Given the description of an element on the screen output the (x, y) to click on. 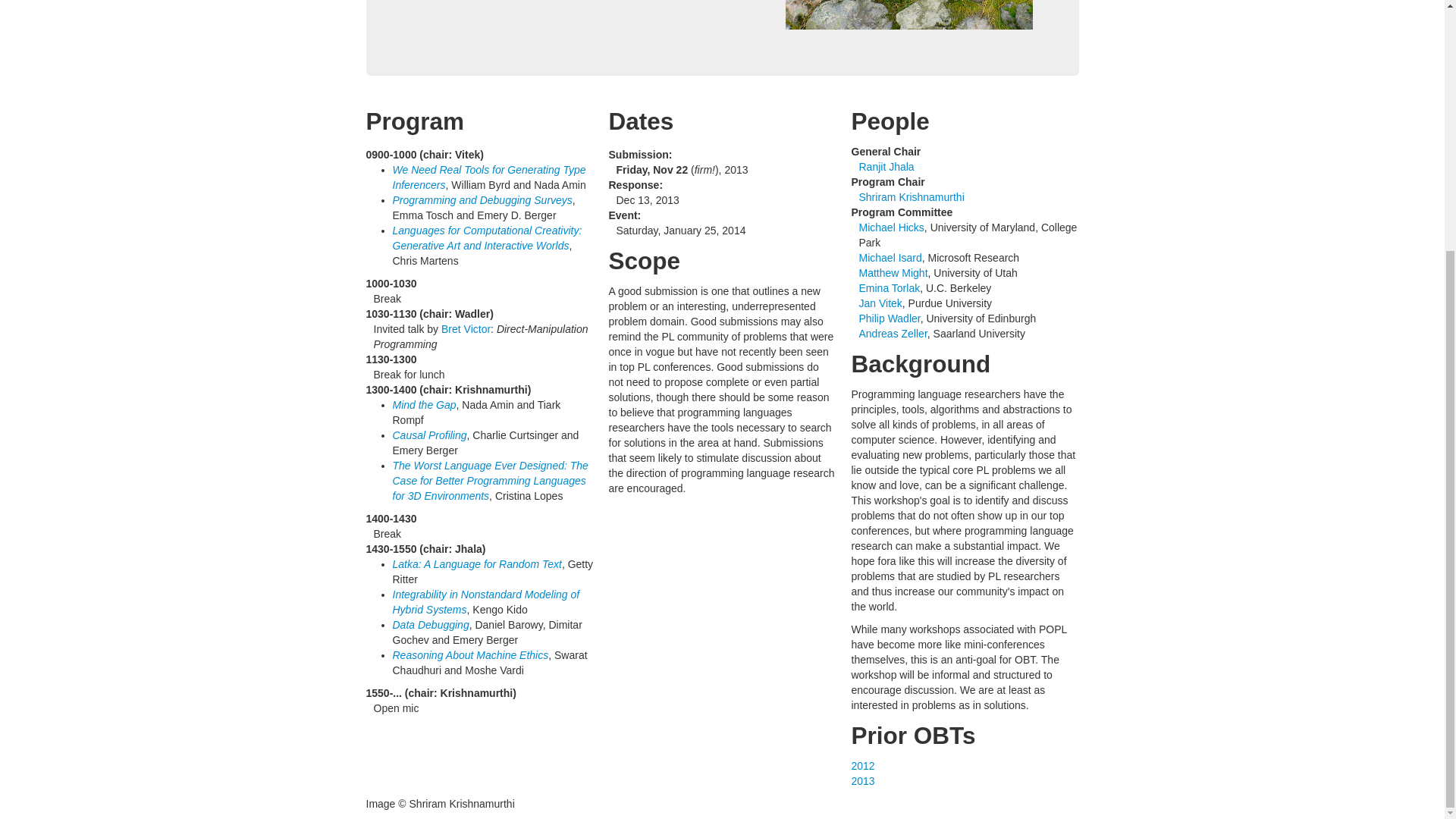
Andreas Zeller (892, 333)
Michael Isard (890, 257)
Integrability in Nonstandard Modeling of Hybrid Systems (486, 601)
Causal Profiling (430, 435)
Michael Hicks (891, 227)
Shriram Krishnamurthi (911, 196)
Programming and Debugging Surveys (482, 200)
Latka: A Language for Random Text (477, 563)
Philip Wadler (889, 318)
Jan Vitek (880, 303)
Bret Victor (465, 328)
2012 (862, 766)
2013 (862, 780)
Matthew Might (893, 272)
